Given the description of an element on the screen output the (x, y) to click on. 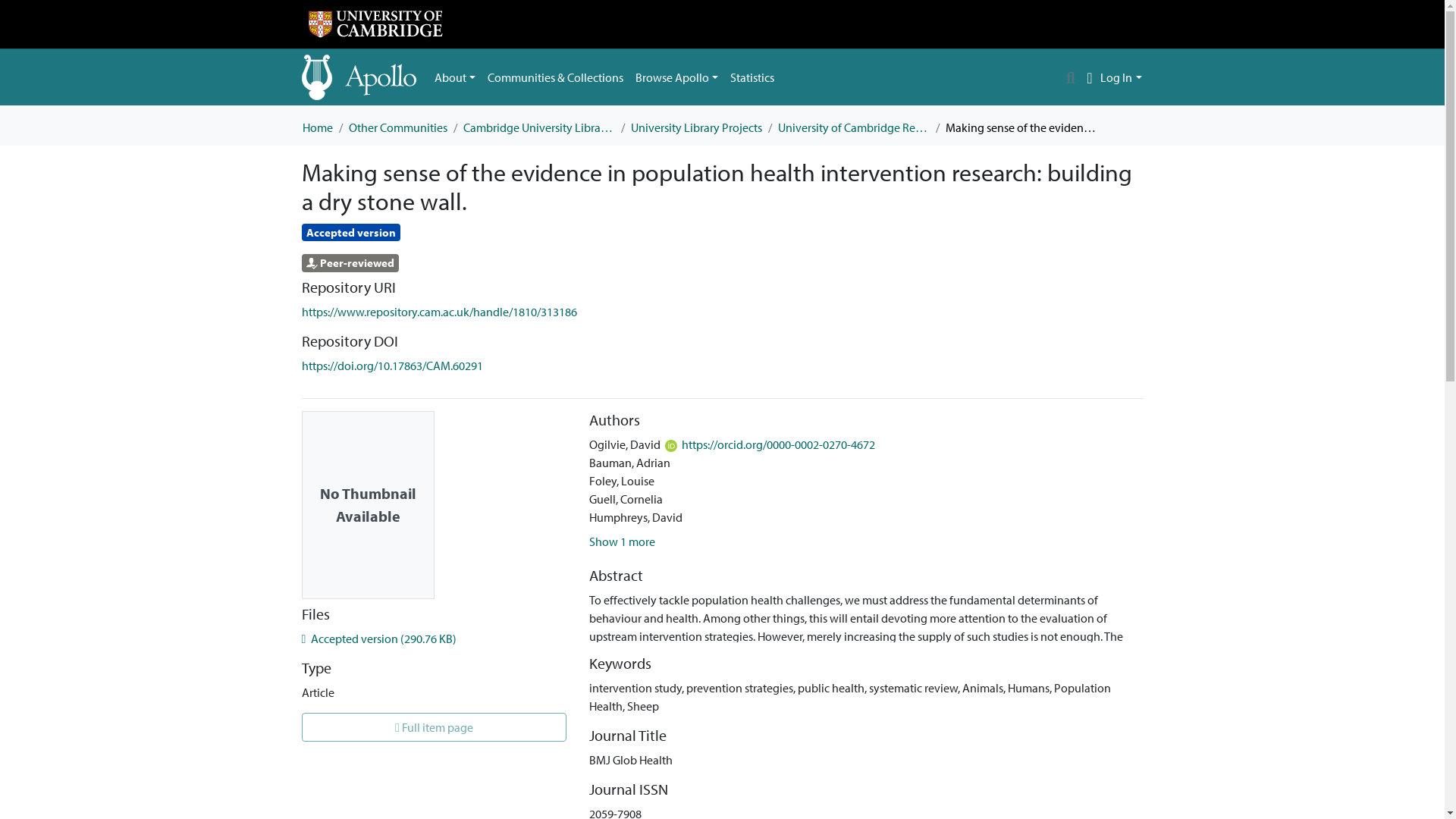
Cambridge University Libraries (538, 126)
Statistics (751, 77)
Language switch (1089, 76)
Statistics (751, 77)
Other Communities (397, 126)
Full item page (434, 727)
Browse Apollo (675, 77)
Home (316, 126)
University Library Projects (695, 126)
Search (1070, 76)
